Given the description of an element on the screen output the (x, y) to click on. 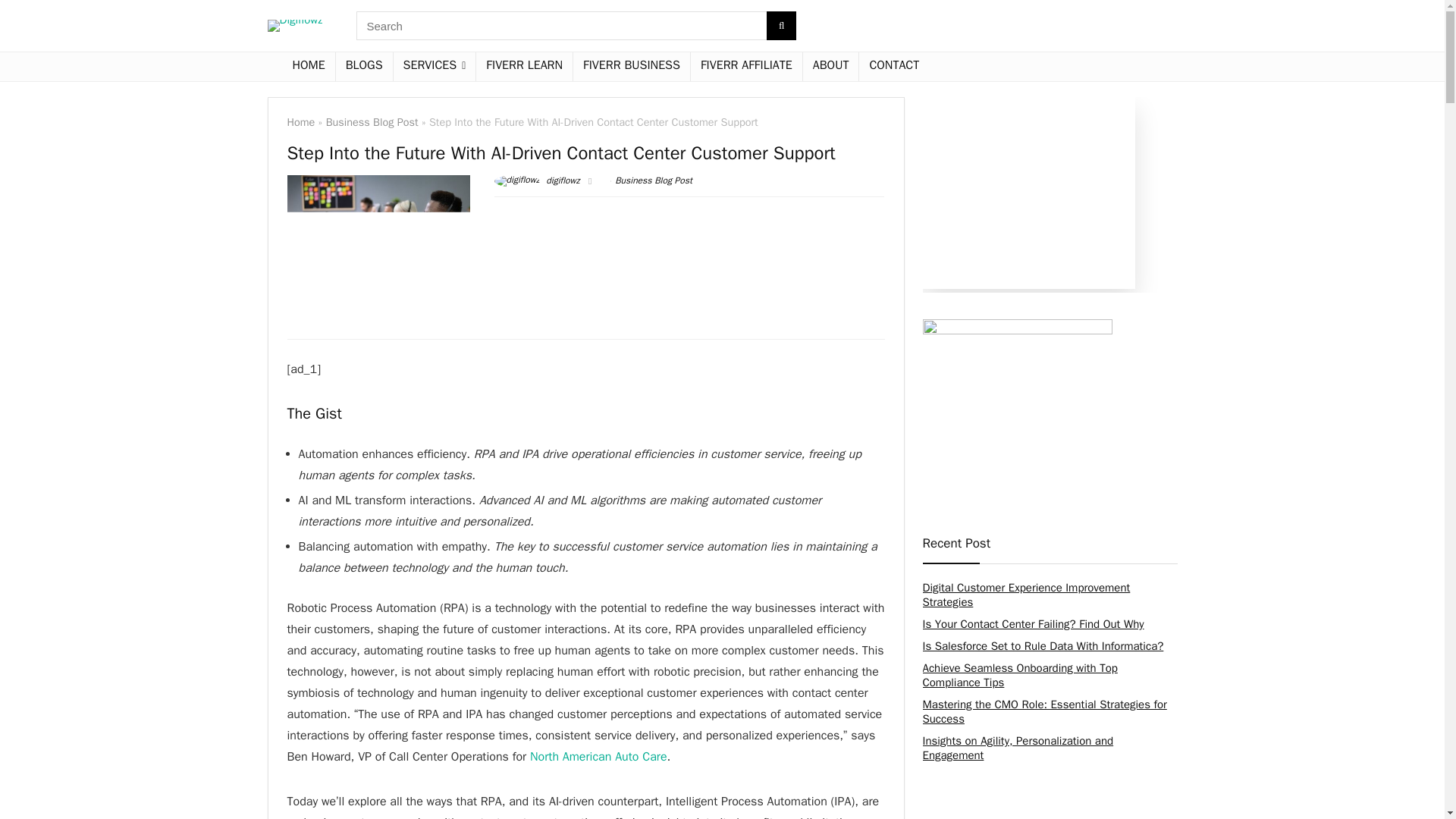
FIVERR BUSINESS (631, 66)
SERVICES (434, 66)
FIVERR LEARN (524, 66)
Home (300, 121)
HOME (308, 66)
North American Auto Care (597, 756)
Business Blog Post (653, 180)
Business Blog Post (372, 121)
digiflowz (537, 180)
View all posts in Business Blog Post (653, 180)
